Given the description of an element on the screen output the (x, y) to click on. 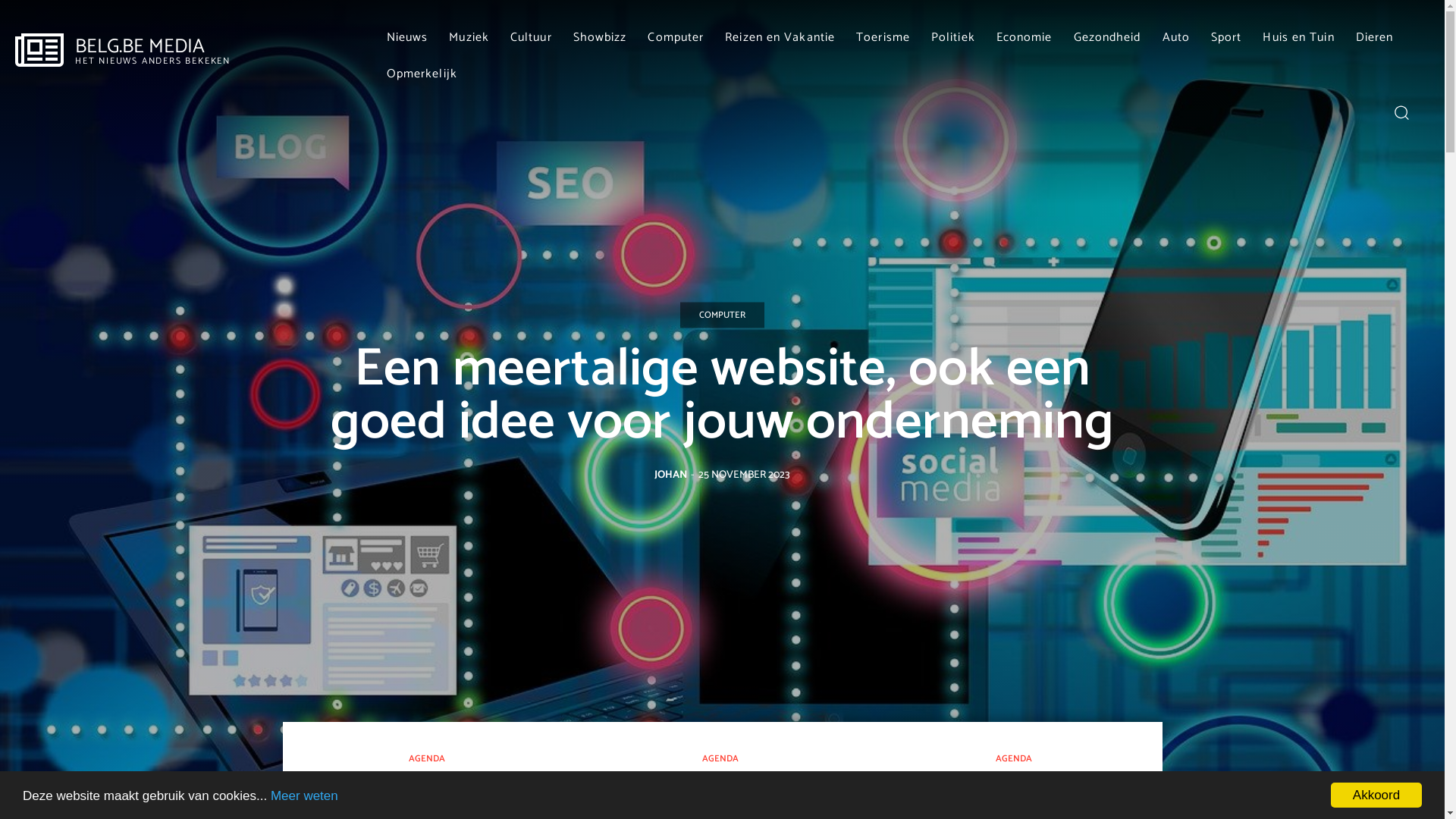
Sport Element type: text (1226, 37)
Gezondheid Element type: text (1107, 37)
Politiek Element type: text (952, 37)
Opmerkelijk Element type: text (421, 74)
Auto Element type: text (1175, 37)
JOHAN Element type: text (670, 474)
Reizen en Vakantie Element type: text (779, 37)
Akkoord Element type: text (1375, 794)
Dieren Element type: text (1374, 37)
AGENDA Element type: text (426, 759)
AGENDA Element type: text (1013, 759)
Jesse Vandenbulcke kiest De Ceuster Bonache Element type: text (1015, 790)
Cultuur Element type: text (530, 37)
Nieuws Element type: text (407, 37)
Huis en Tuin Element type: text (1298, 37)
COMPUTER Element type: text (722, 314)
Economie Element type: text (1024, 37)
Meer weten Element type: text (304, 795)
Showbizz Element type: text (599, 37)
Toerisme Element type: text (882, 37)
BELG.BE MEDIA
HET NIEUWS ANDERS BEKEKEN Element type: text (122, 51)
Computer Element type: text (675, 37)
AGENDA Element type: text (720, 759)
Vlaanderen Muziekland keert dit jaar nog terug Element type: text (721, 790)
Muziek Element type: text (468, 37)
